Given the description of an element on the screen output the (x, y) to click on. 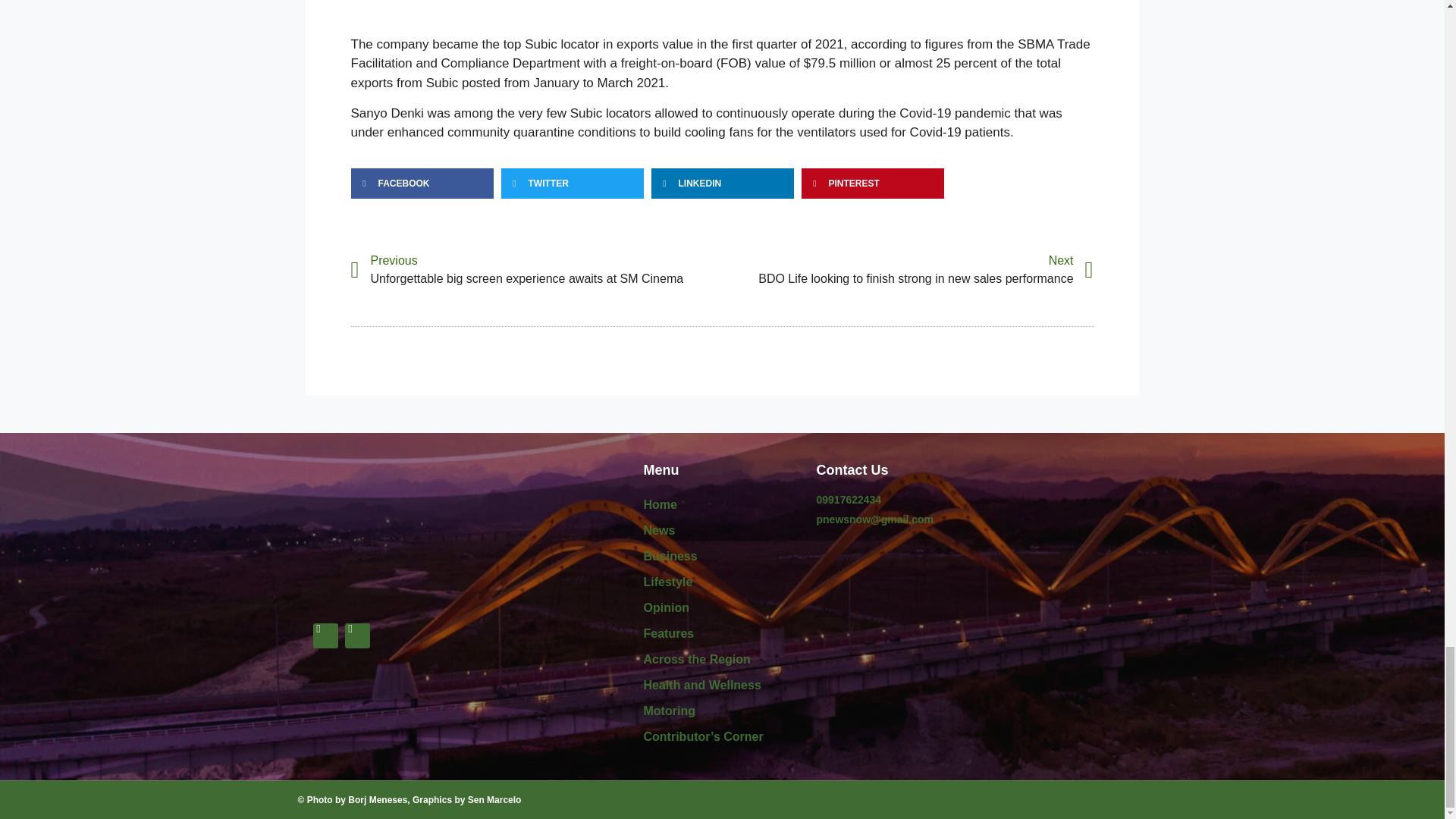
Home (721, 504)
Opinion (721, 607)
Motoring (721, 710)
Health and Wellness (721, 685)
Business (721, 556)
Features (721, 633)
Lifestyle (721, 582)
News (721, 530)
Across the Region (721, 659)
